Given the description of an element on the screen output the (x, y) to click on. 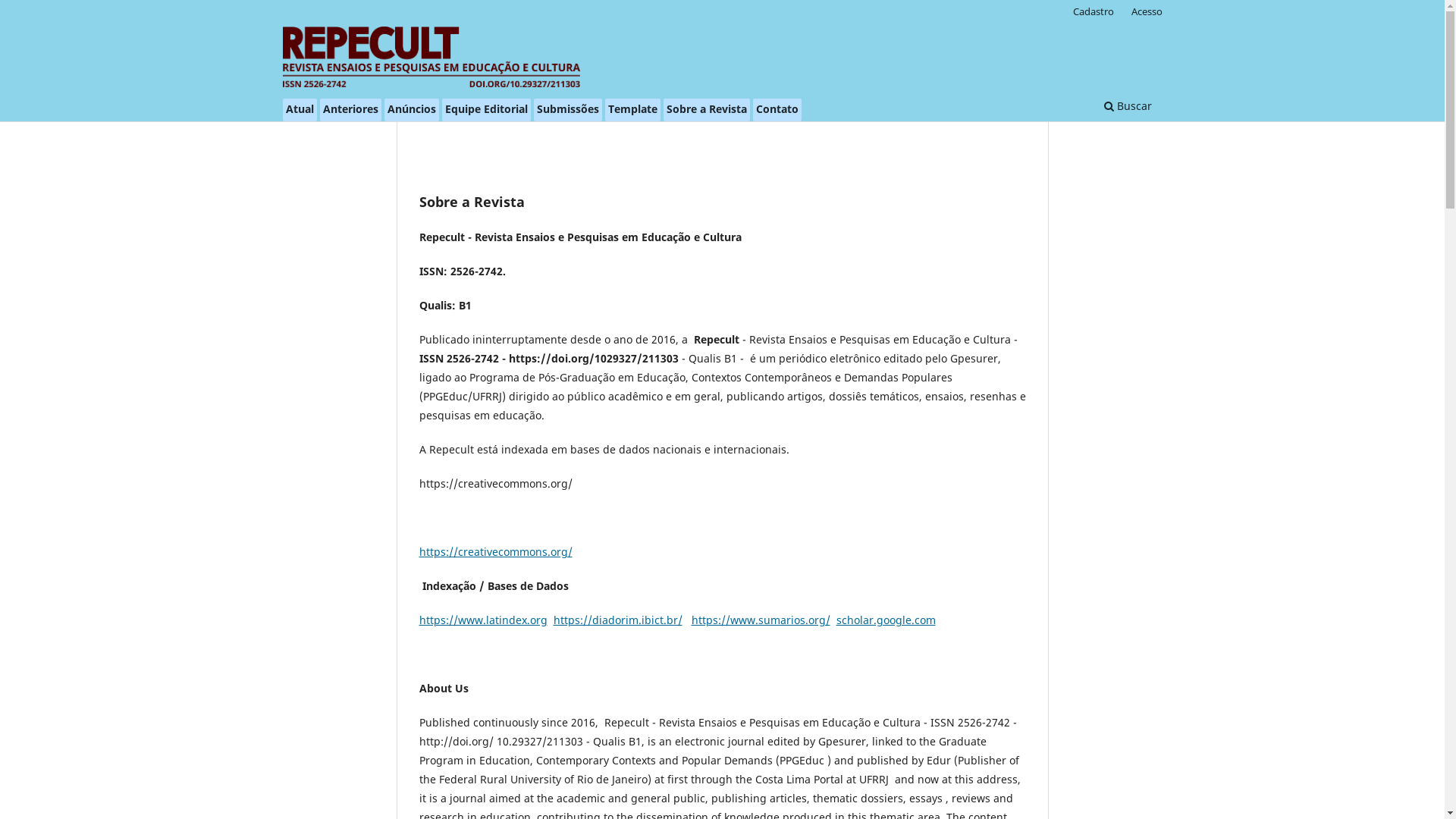
Template Element type: text (632, 109)
Cadastro Element type: text (1093, 11)
https://diadorim.ibict.br/ Element type: text (617, 619)
https://creativecommons.org/ Element type: text (494, 551)
Atual Element type: text (299, 109)
Contato Element type: text (776, 109)
Sobre a Revista Element type: text (705, 109)
https://www.sumarios.org/ Element type: text (760, 619)
Acesso Element type: text (1146, 11)
scholar.google.com Element type: text (885, 619)
https://www.latindex.org Element type: text (482, 619)
Equipe Editorial Element type: text (485, 109)
Anteriores Element type: text (350, 109)
Buscar Element type: text (1127, 107)
